Given the description of an element on the screen output the (x, y) to click on. 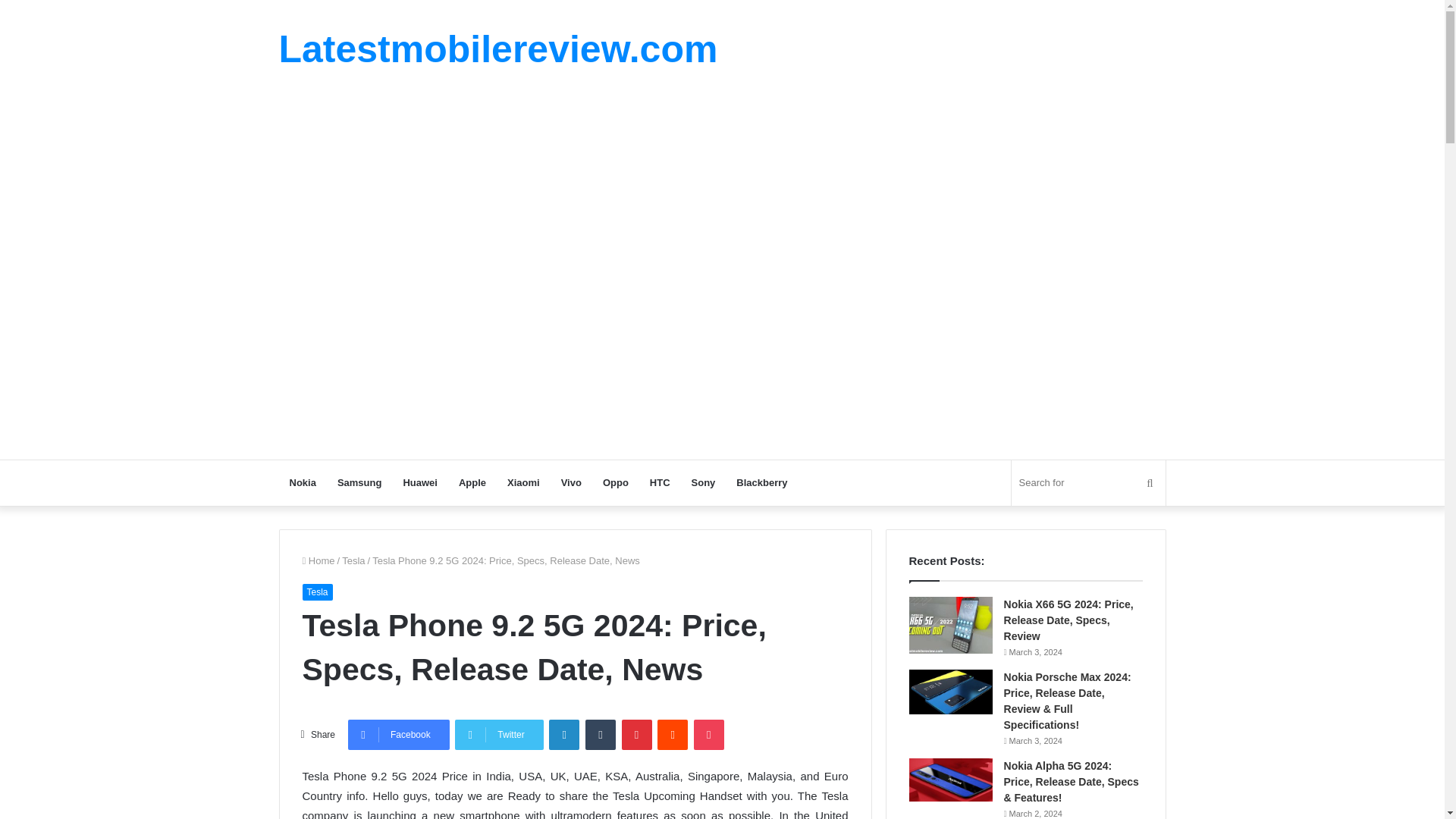
Tumblr (600, 734)
Reddit (672, 734)
Samsung (359, 483)
Facebook (398, 734)
Search for (1088, 483)
Nokia (302, 483)
HTC (660, 483)
Pocket (708, 734)
Latestmobilereview.com (498, 48)
Huawei (419, 483)
Tesla (316, 591)
Tesla (353, 560)
Oppo (615, 483)
Facebook (398, 734)
Blackberry (761, 483)
